Given the description of an element on the screen output the (x, y) to click on. 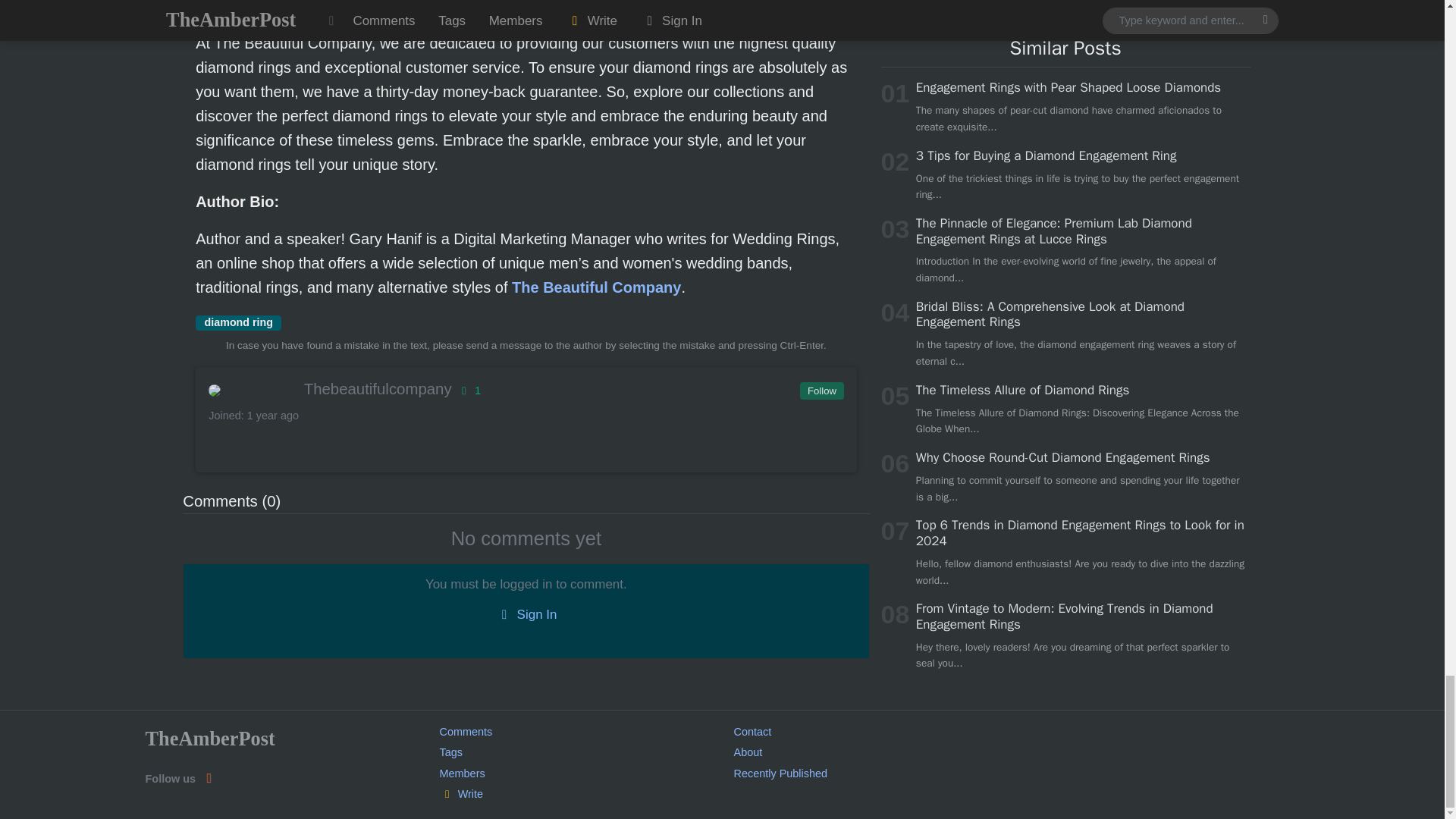
Rating (467, 390)
Follow (821, 391)
Subscribe on rss (207, 777)
diamond ring (238, 322)
The Beautiful Company (596, 287)
Sign In (525, 614)
diamond ring (238, 322)
Thebeautifulcompany 1 (525, 389)
